Given the description of an element on the screen output the (x, y) to click on. 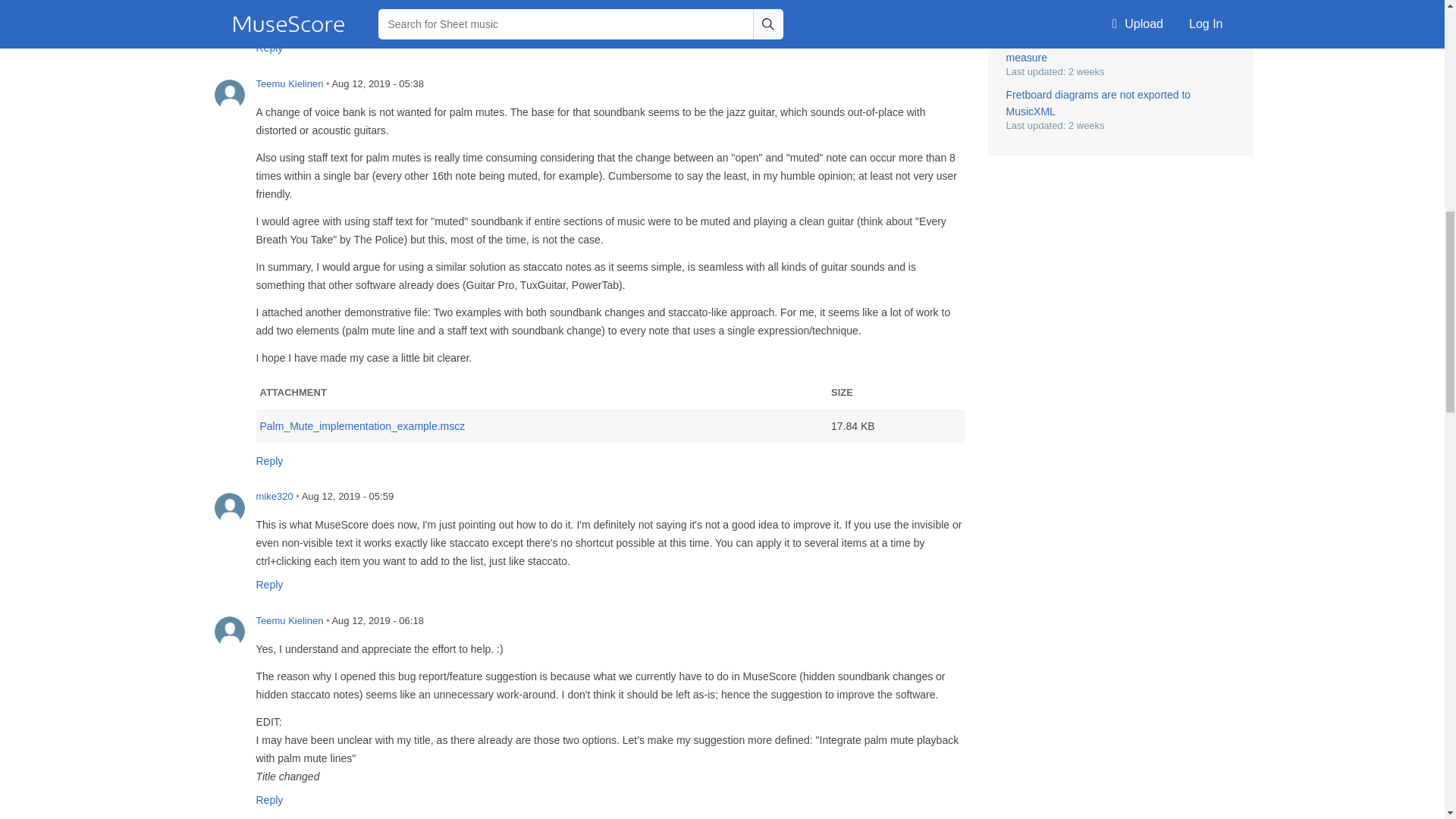
Teemu Kielinen (229, 631)
mike320 (229, 508)
Teemu Kielinen (229, 94)
mike320 (229, 11)
